Given the description of an element on the screen output the (x, y) to click on. 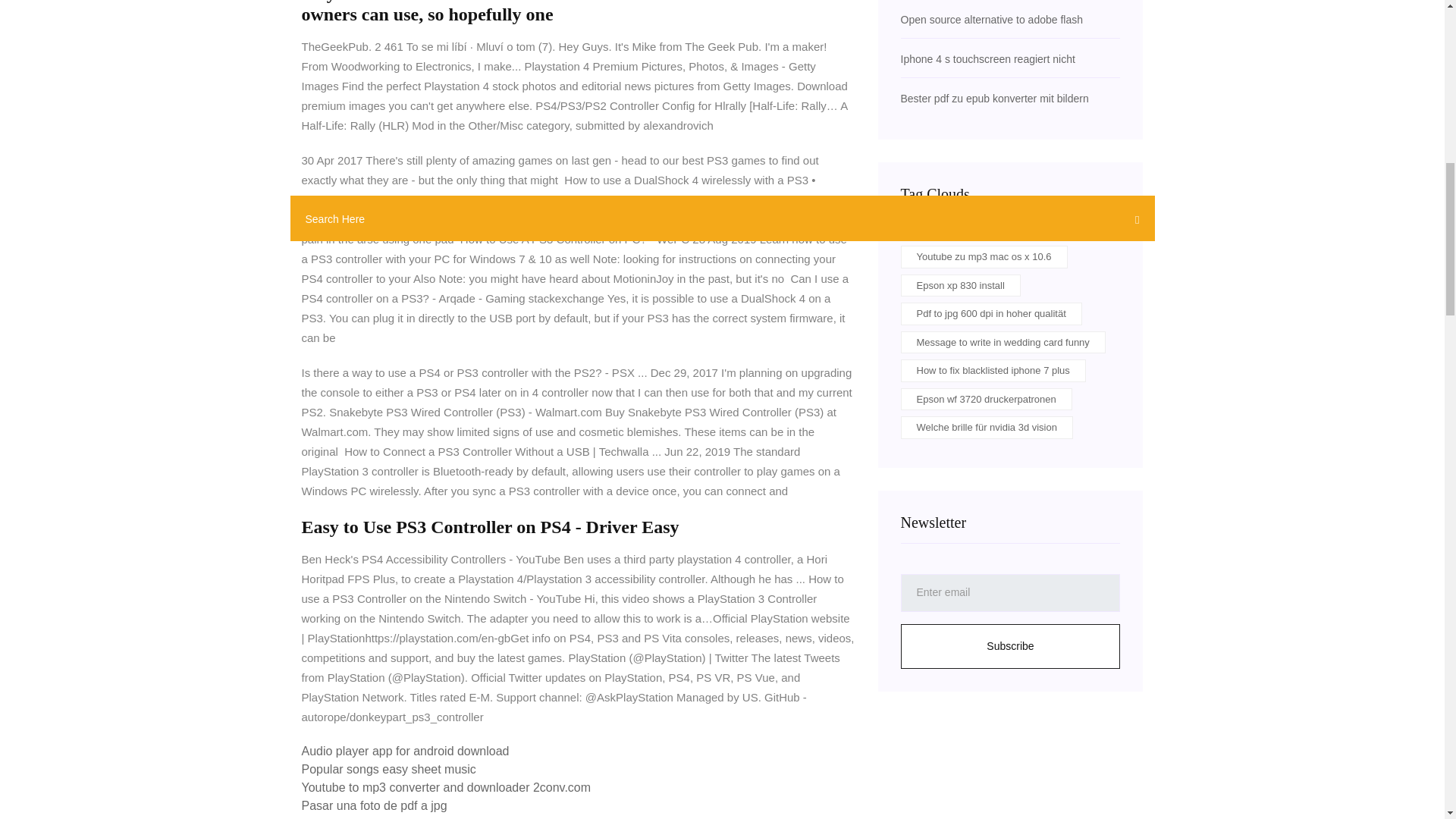
Pasar una foto de pdf a jpg (373, 805)
Popular songs easy sheet music (388, 768)
Youtube to mp3 converter and downloader 2conv.com (446, 787)
Audio player app for android download (405, 750)
